Given the description of an element on the screen output the (x, y) to click on. 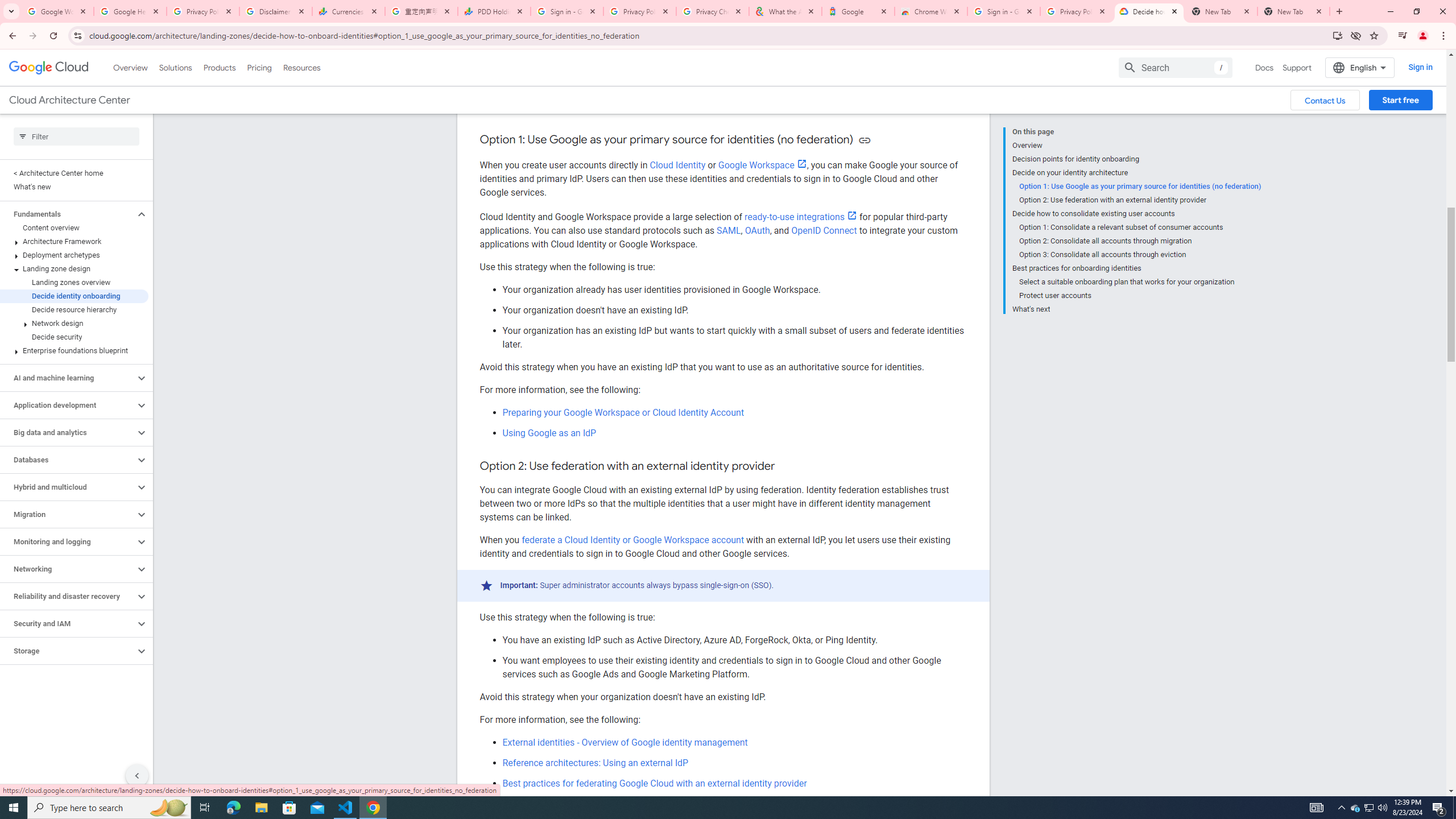
Monitoring and logging (67, 541)
Hide side navigation (136, 775)
OAuth (757, 230)
Decision points for identity onboarding (1135, 159)
Option 3: Consolidate all accounts through eviction (1139, 254)
Privacy Checkup (712, 11)
Solutions (175, 67)
Fundamentals (67, 214)
Decide resource hierarchy (74, 309)
